Given the description of an element on the screen output the (x, y) to click on. 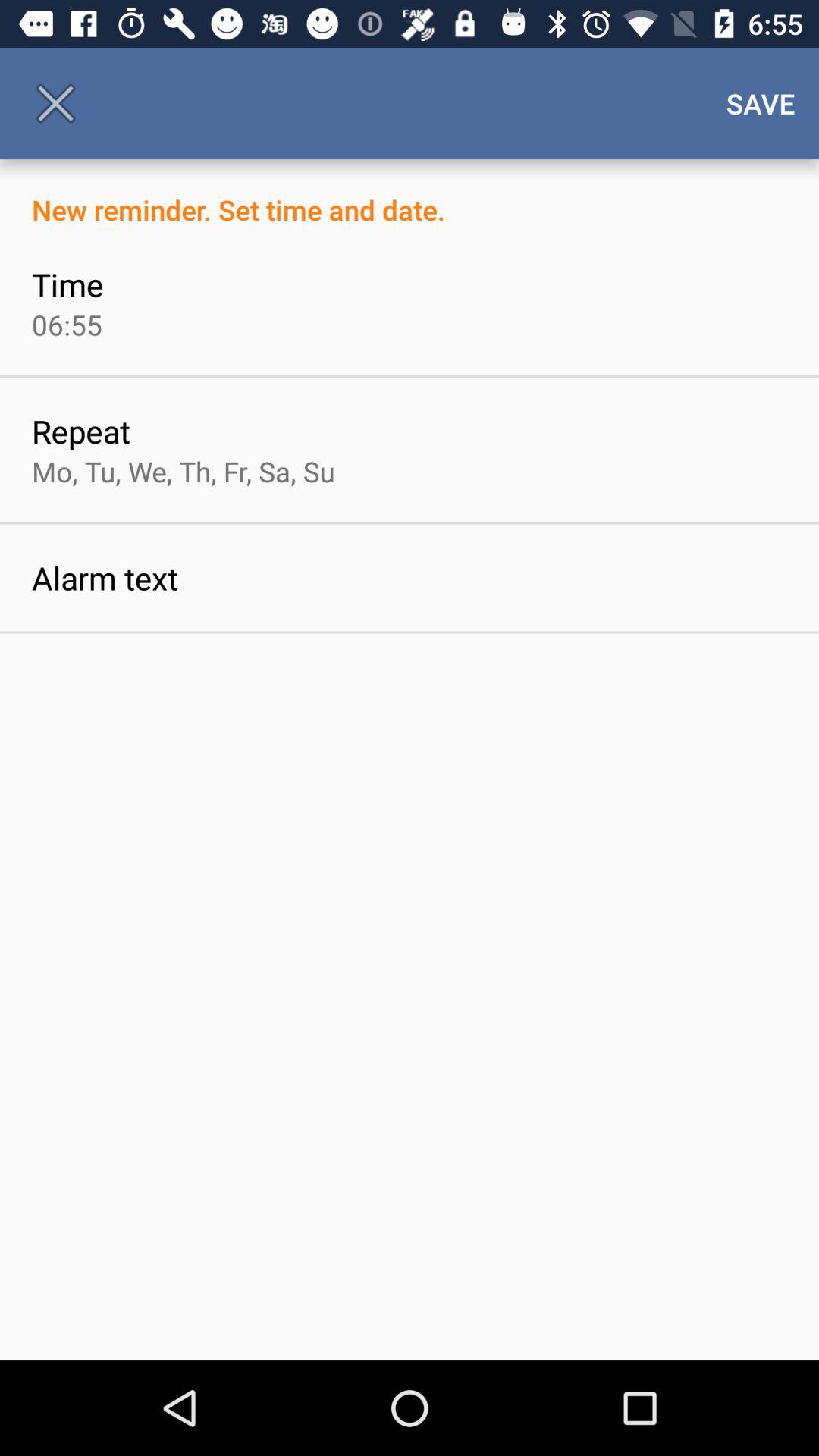
tap item below the mo tu we (104, 577)
